Given the description of an element on the screen output the (x, y) to click on. 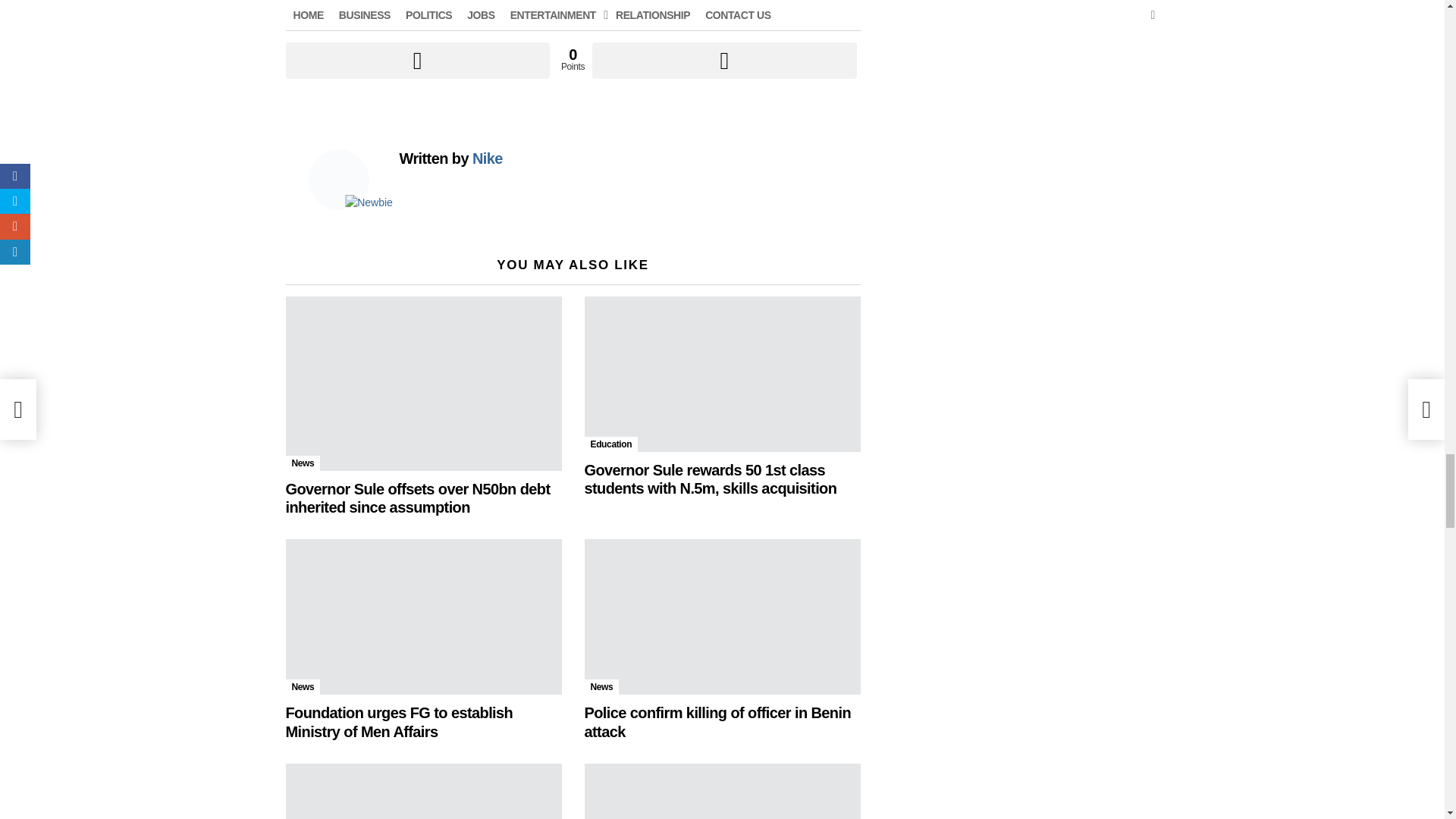
Upvote (416, 60)
Global Technology Glitch: Delta suspend flights (721, 791)
Downvote (724, 60)
Nike (486, 158)
Downvote (724, 60)
News (302, 462)
Education (610, 444)
Police confirm killing of officer in Benin attack (721, 616)
News (302, 686)
Upvote (416, 60)
